Given the description of an element on the screen output the (x, y) to click on. 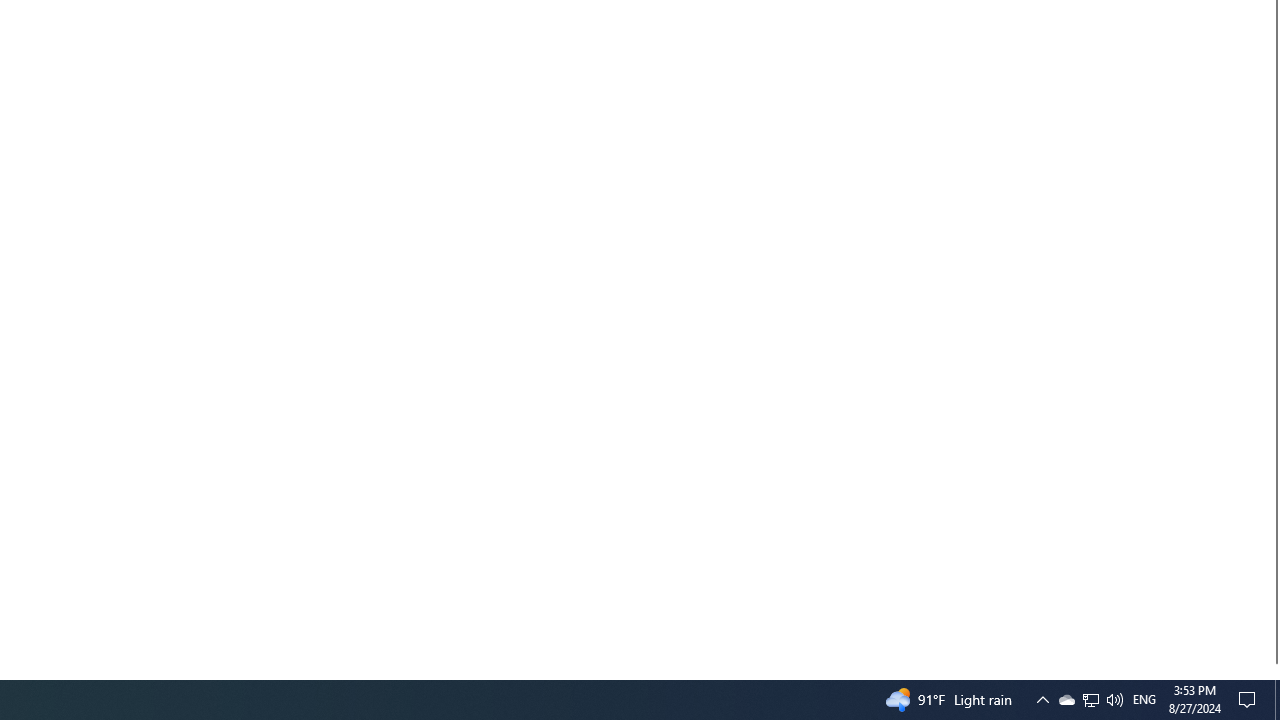
Vertical Small Increase (1272, 671)
